Given the description of an element on the screen output the (x, y) to click on. 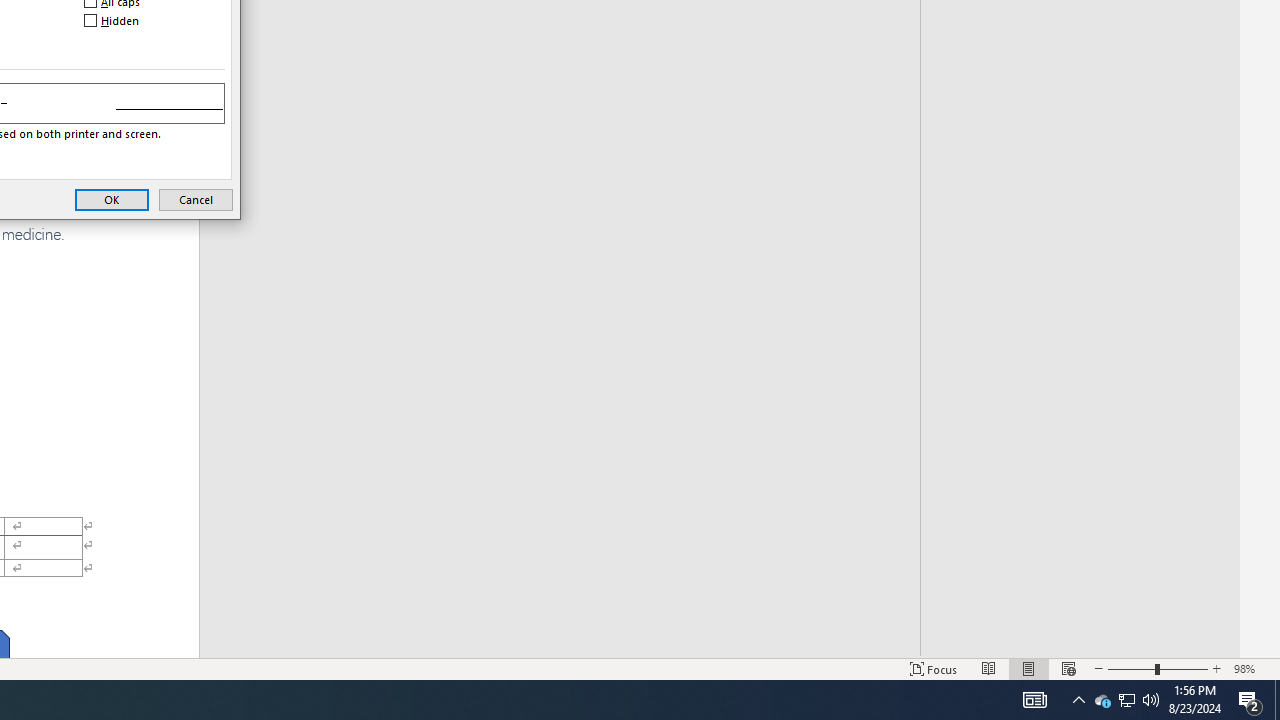
Show desktop (1277, 699)
Hidden (113, 20)
Q2790: 100% (1151, 699)
